Given the description of an element on the screen output the (x, y) to click on. 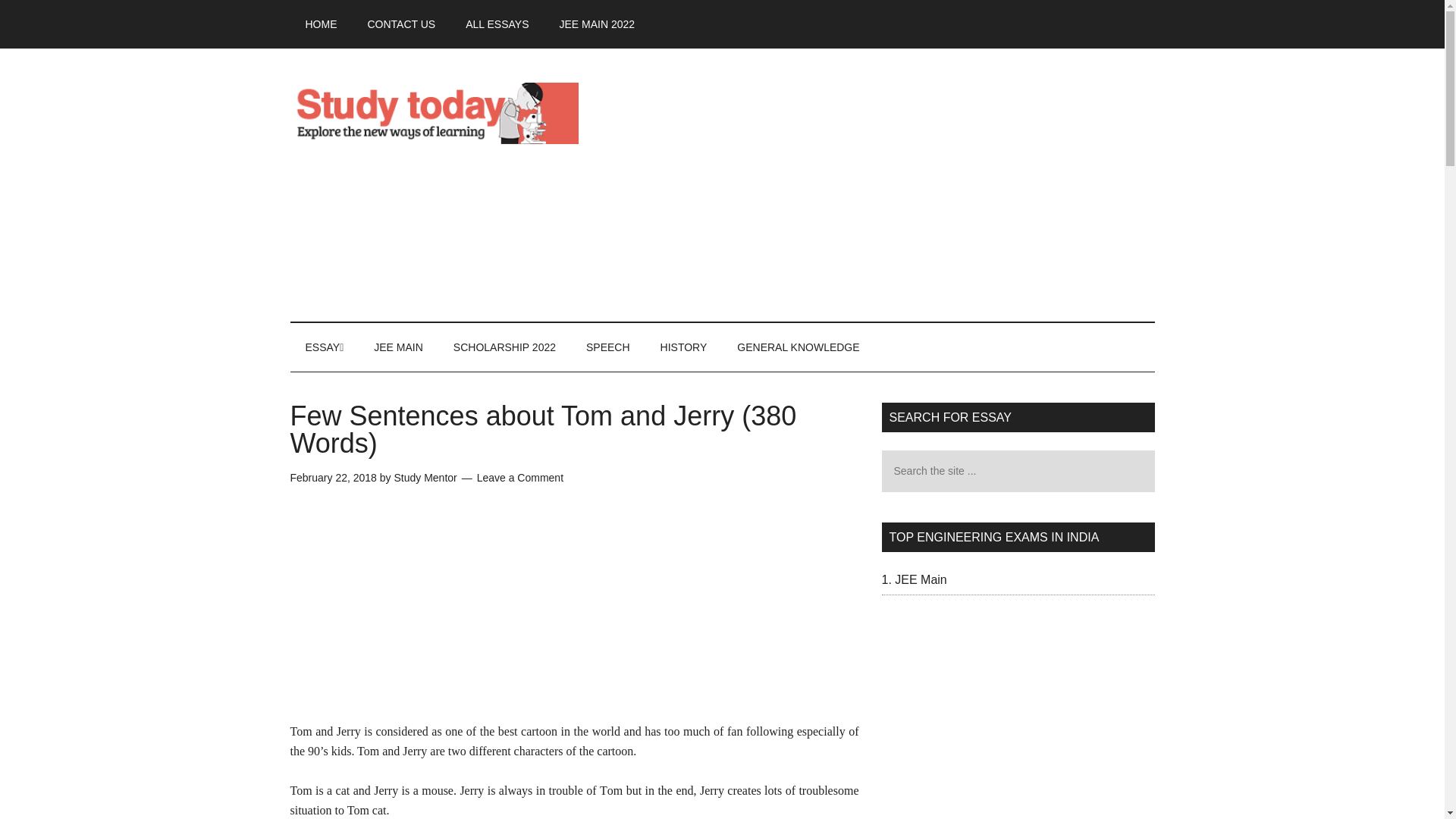
GENERAL KNOWLEDGE (798, 346)
HISTORY (683, 346)
HOME (320, 24)
Advertisement (878, 184)
Study Mentor (425, 477)
SPEECH (607, 346)
CONTACT US (400, 24)
JEE MAIN (398, 346)
Advertisement (1017, 724)
ALL ESSAYS (496, 24)
SCHOLARSHIP 2022 (504, 346)
Leave a Comment (520, 477)
Advertisement (574, 615)
JEE Main (920, 579)
